Given the description of an element on the screen output the (x, y) to click on. 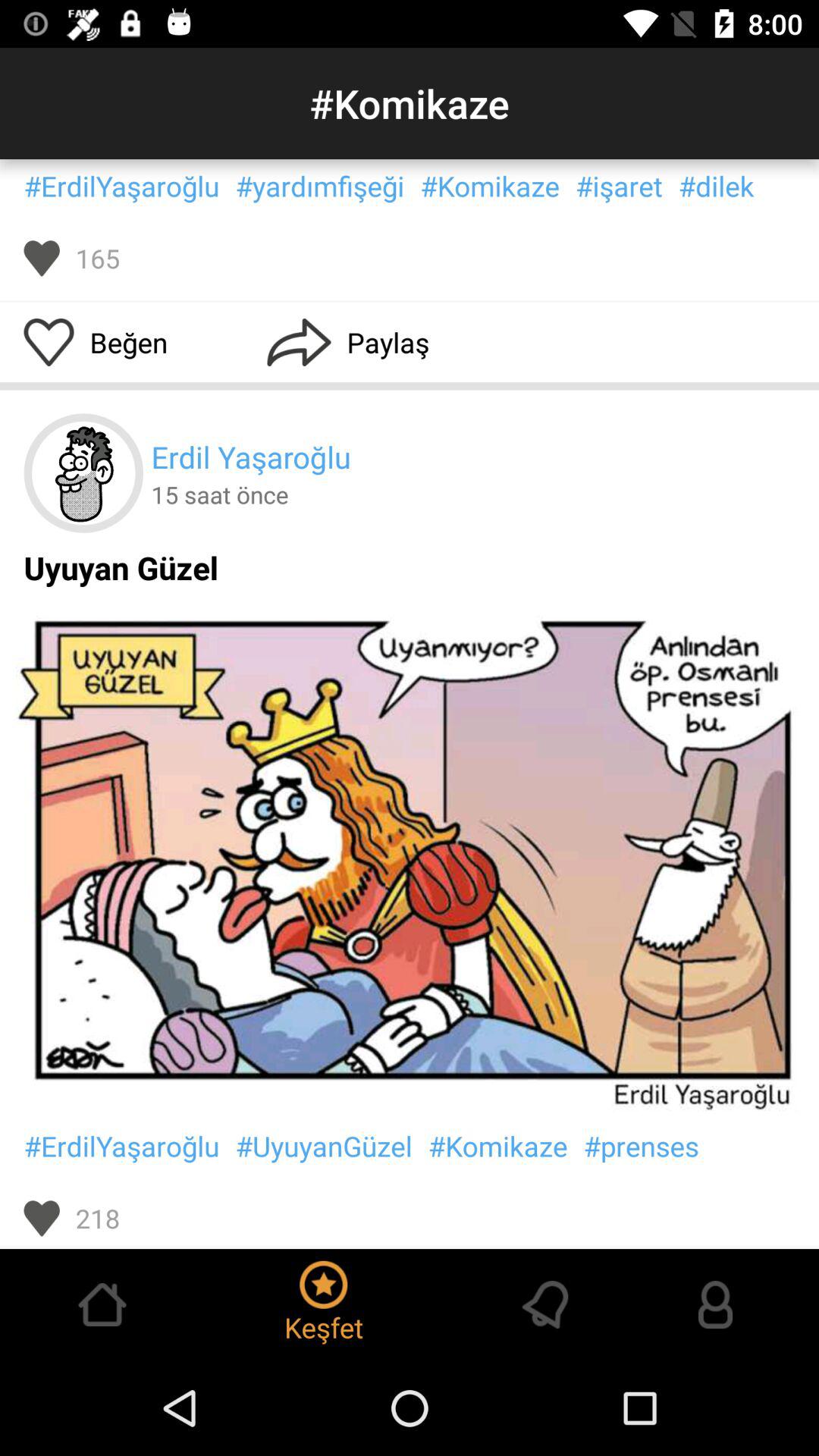
turn off the item next to the 165 item (41, 258)
